Given the description of an element on the screen output the (x, y) to click on. 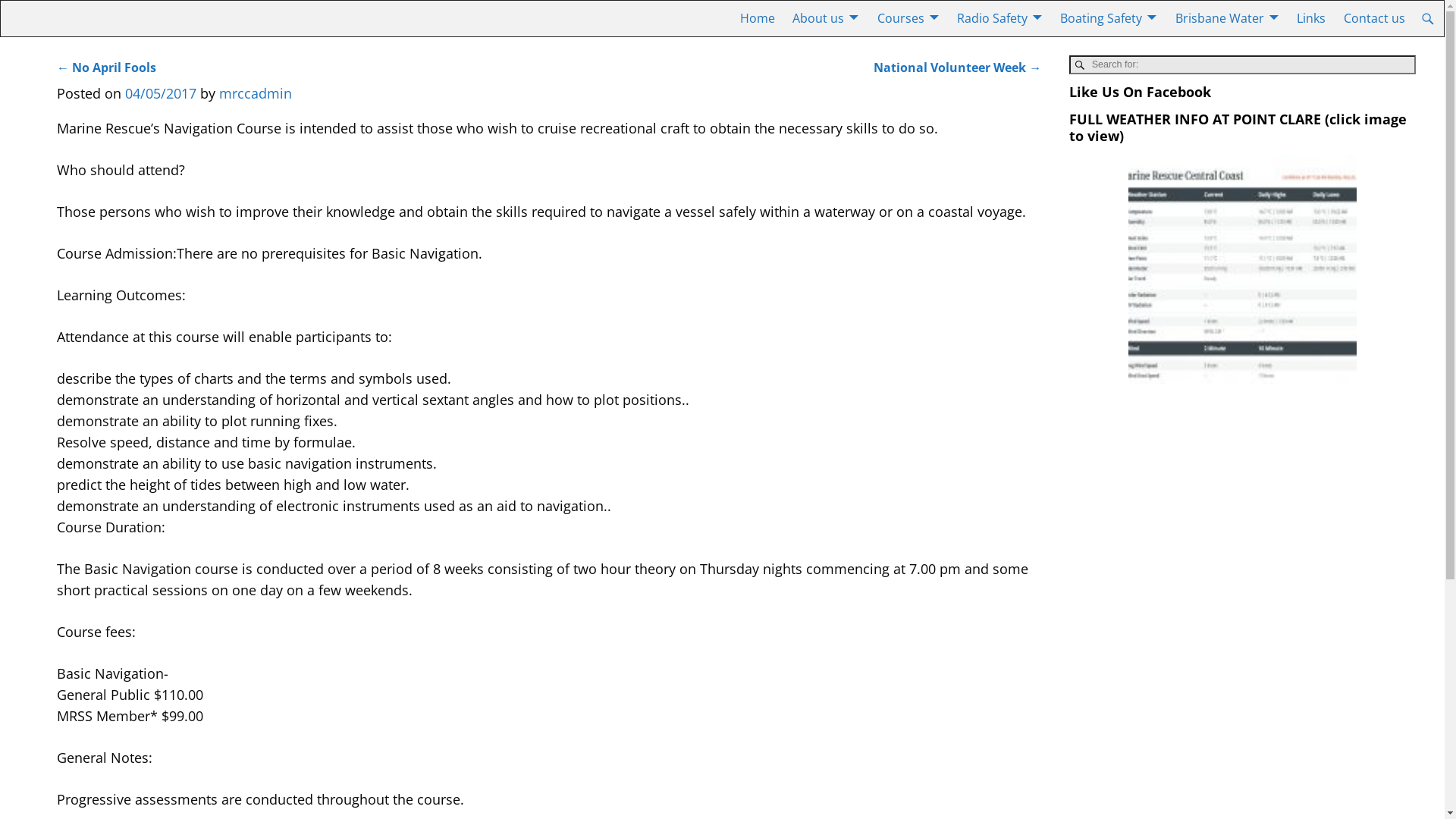
Home Element type: text (757, 18)
Links Element type: text (1310, 18)
Contact us Element type: text (1374, 18)
Brisbane Water Element type: text (1226, 18)
04/05/2017 Element type: text (160, 93)
Courses Element type: text (907, 18)
Radio Safety Element type: text (999, 18)
About us Element type: text (826, 18)
mrccadmin Element type: text (255, 93)
Boating Safety Element type: text (1108, 18)
